Given the description of an element on the screen output the (x, y) to click on. 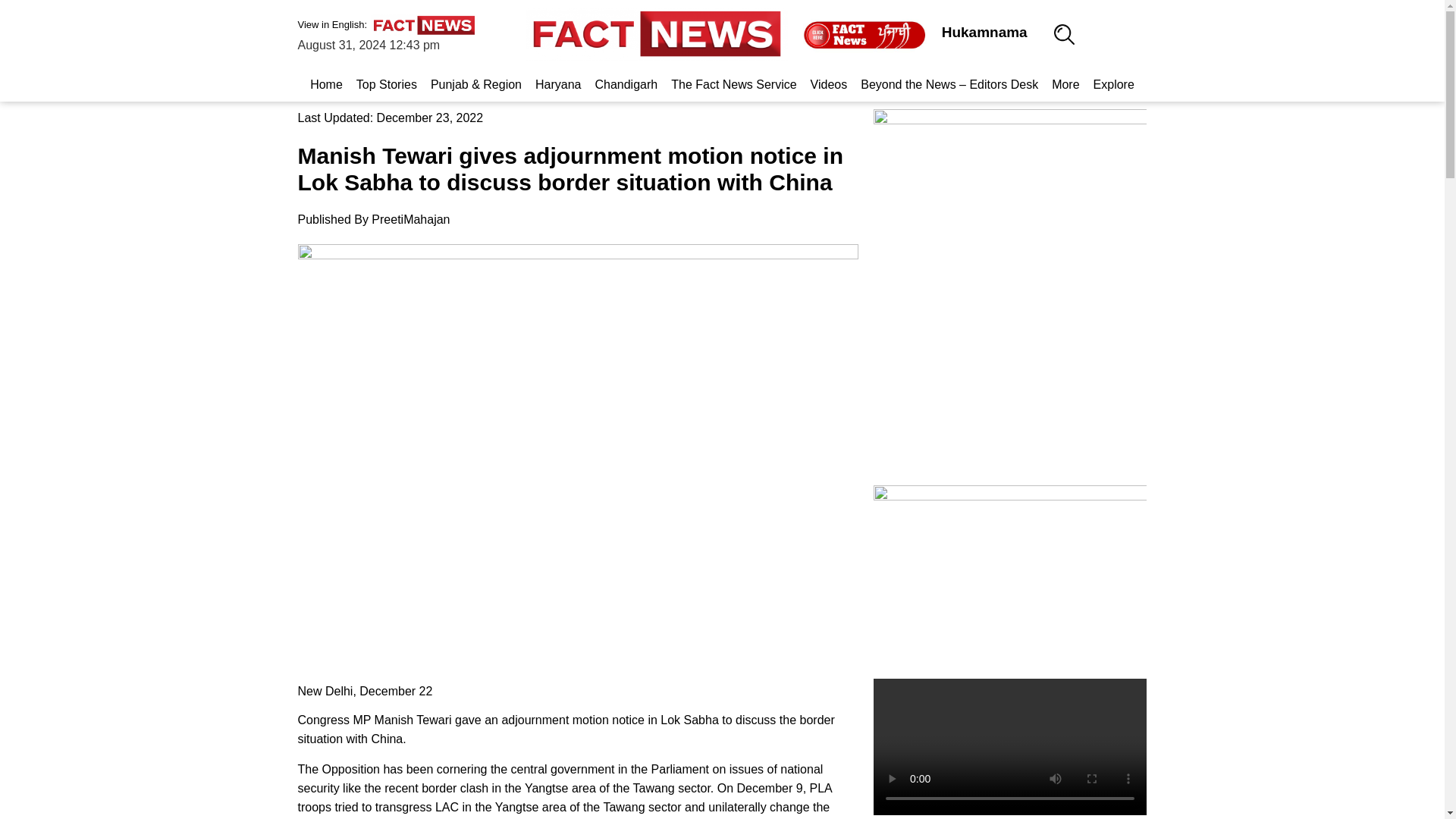
Hukamnama (984, 32)
More (1065, 84)
Haryana (558, 84)
The Fact News Service (733, 84)
Explore (1113, 84)
Home (325, 84)
Top Stories (386, 84)
Chandigarh (625, 84)
Videos (828, 84)
